Given the description of an element on the screen output the (x, y) to click on. 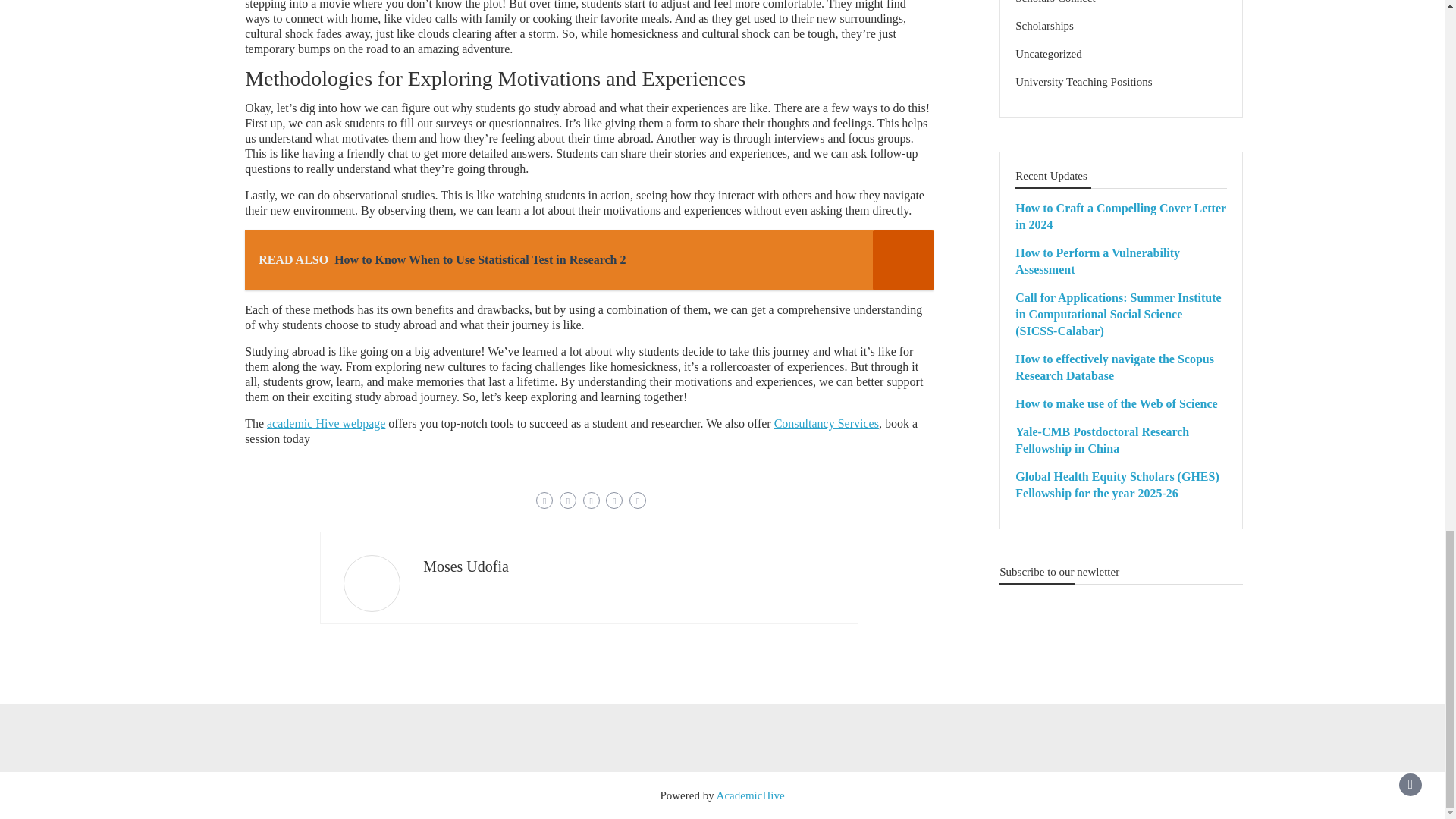
academic Hive webpage (325, 422)
